Given the description of an element on the screen output the (x, y) to click on. 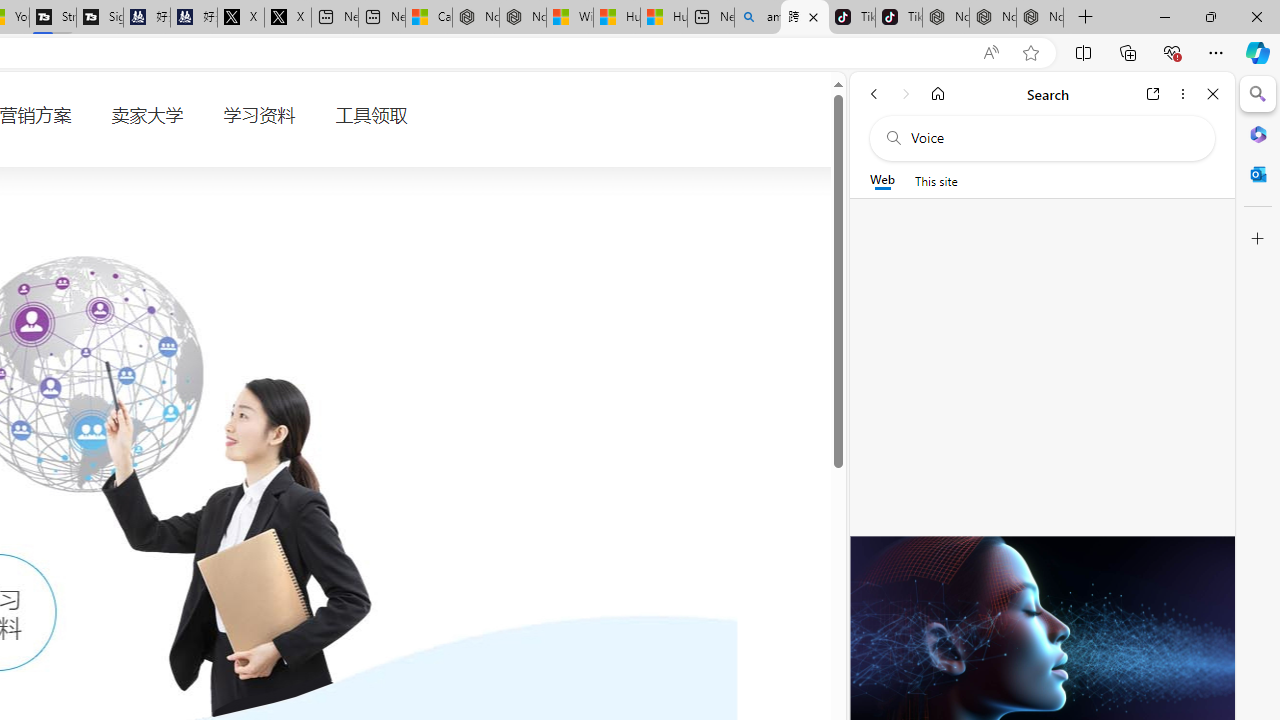
TikTok (898, 17)
